Given the description of an element on the screen output the (x, y) to click on. 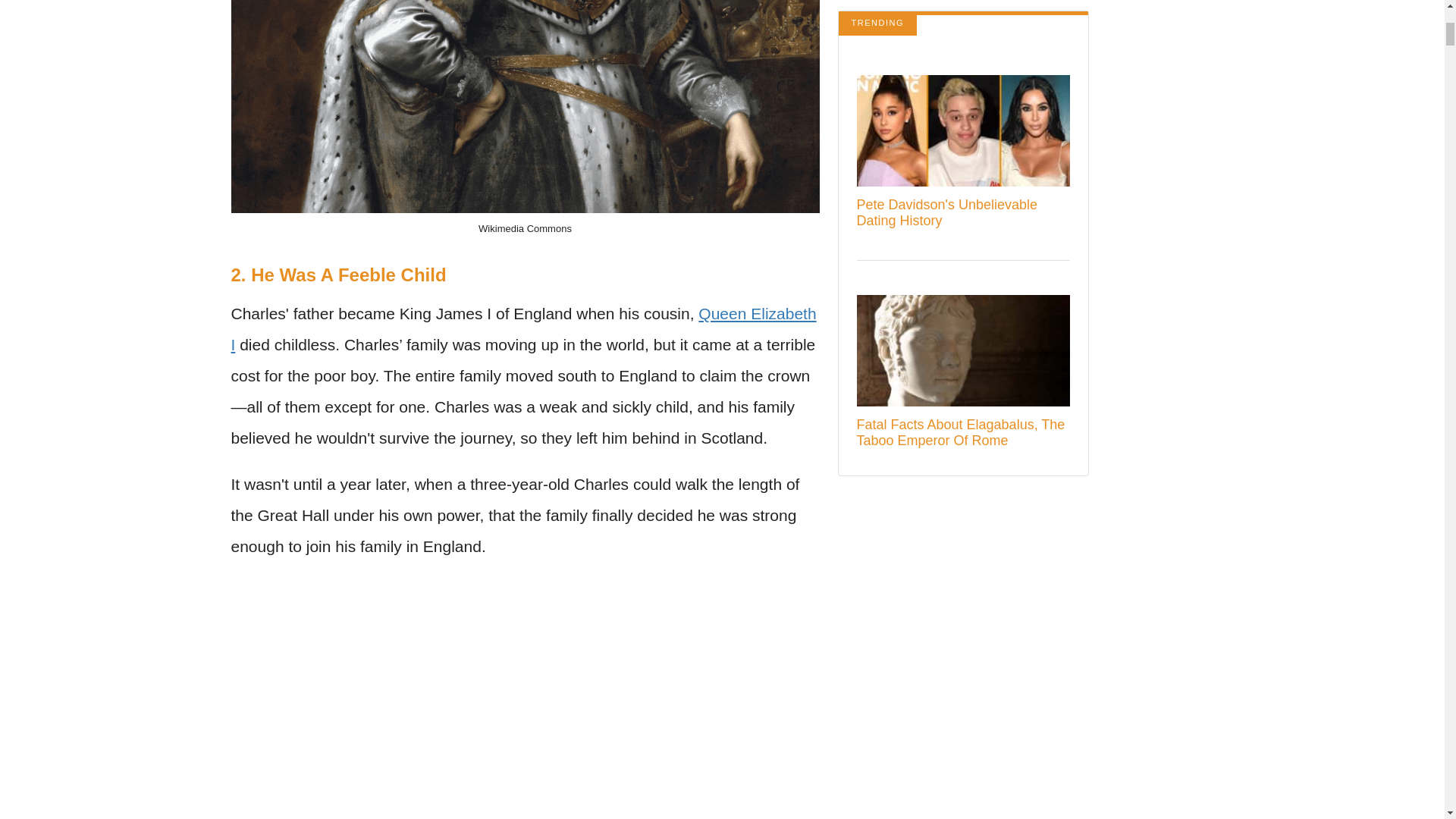
Wikimedia Commons (525, 228)
Queen Elizabeth I (522, 328)
